Given the description of an element on the screen output the (x, y) to click on. 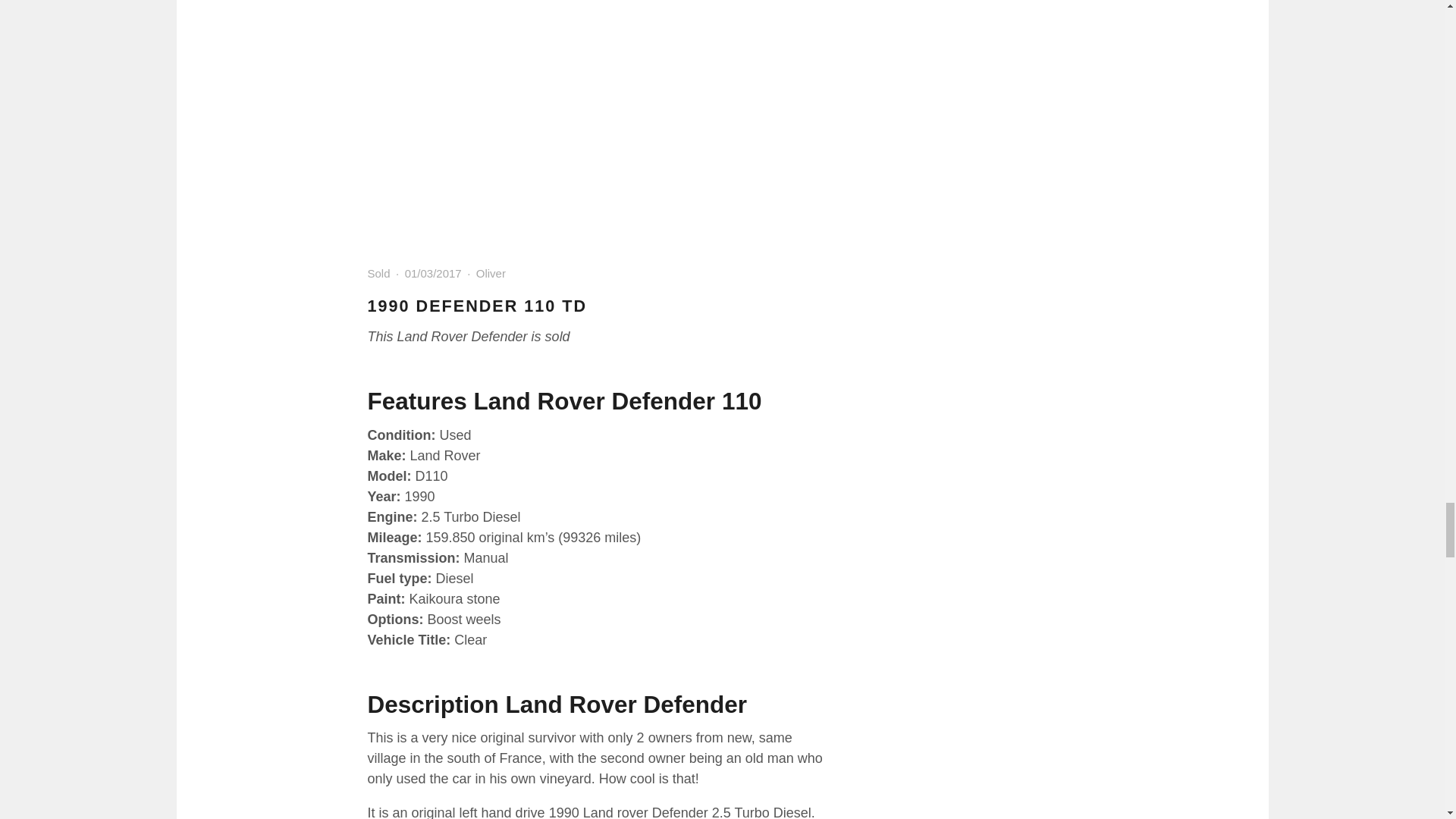
Sold (378, 273)
